Given the description of an element on the screen output the (x, y) to click on. 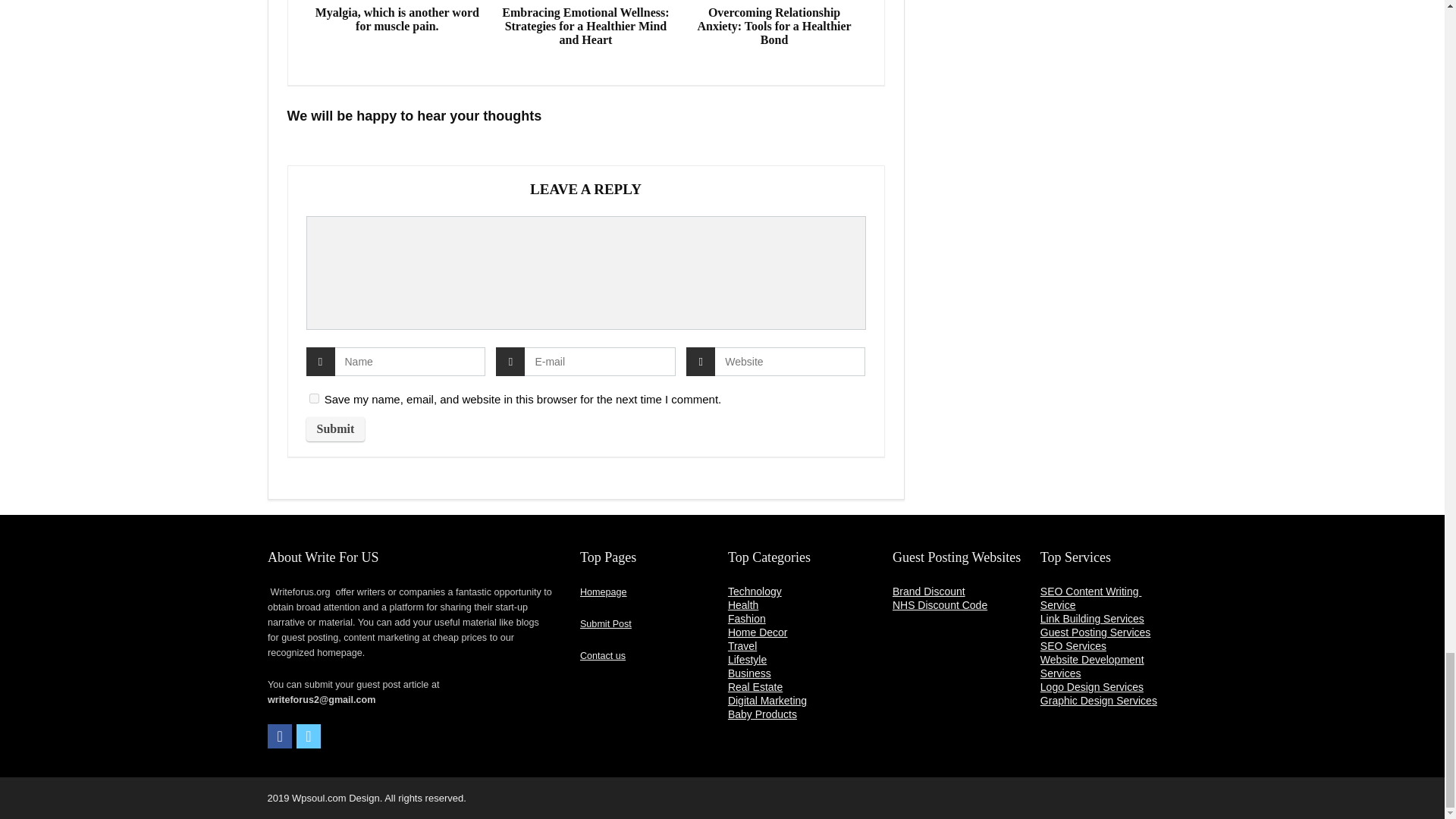
Submit (335, 428)
Overcoming Relationship Anxiety: Tools for a Healthier Bond (774, 25)
yes (313, 398)
Myalgia, which is another word for muscle pain. (397, 19)
